Given the description of an element on the screen output the (x, y) to click on. 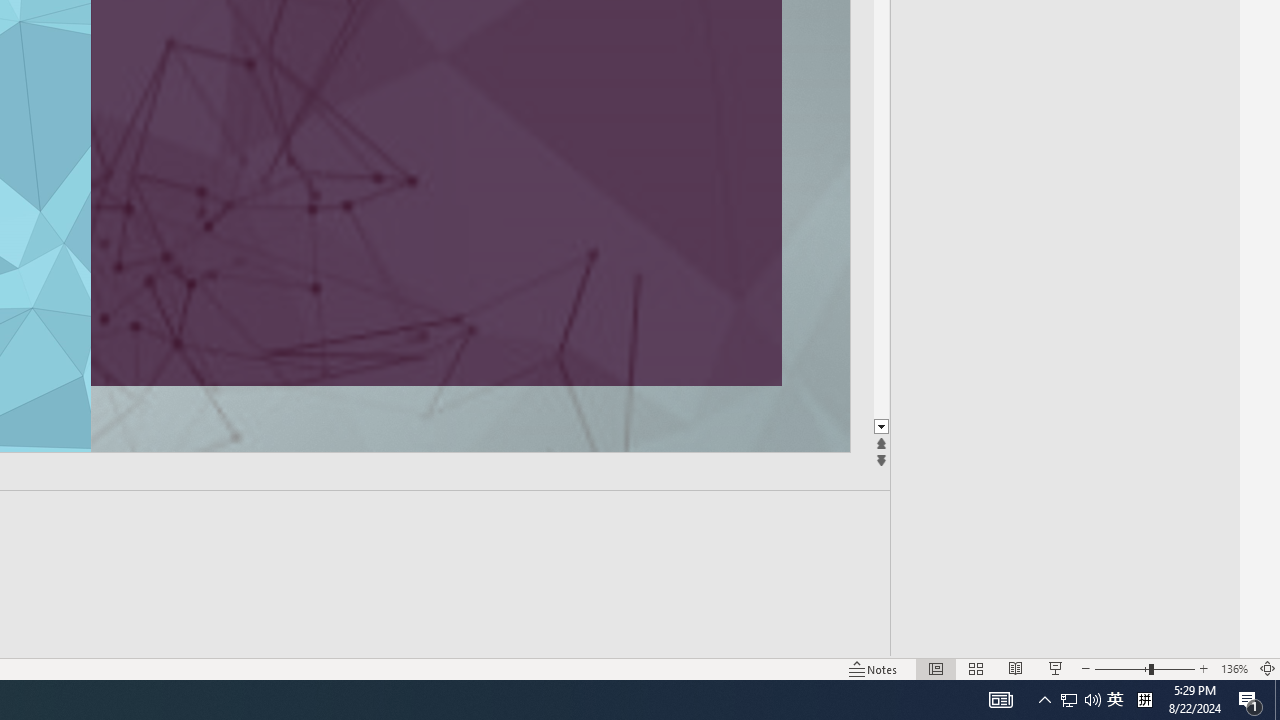
Zoom 136% (1234, 668)
